Given the description of an element on the screen output the (x, y) to click on. 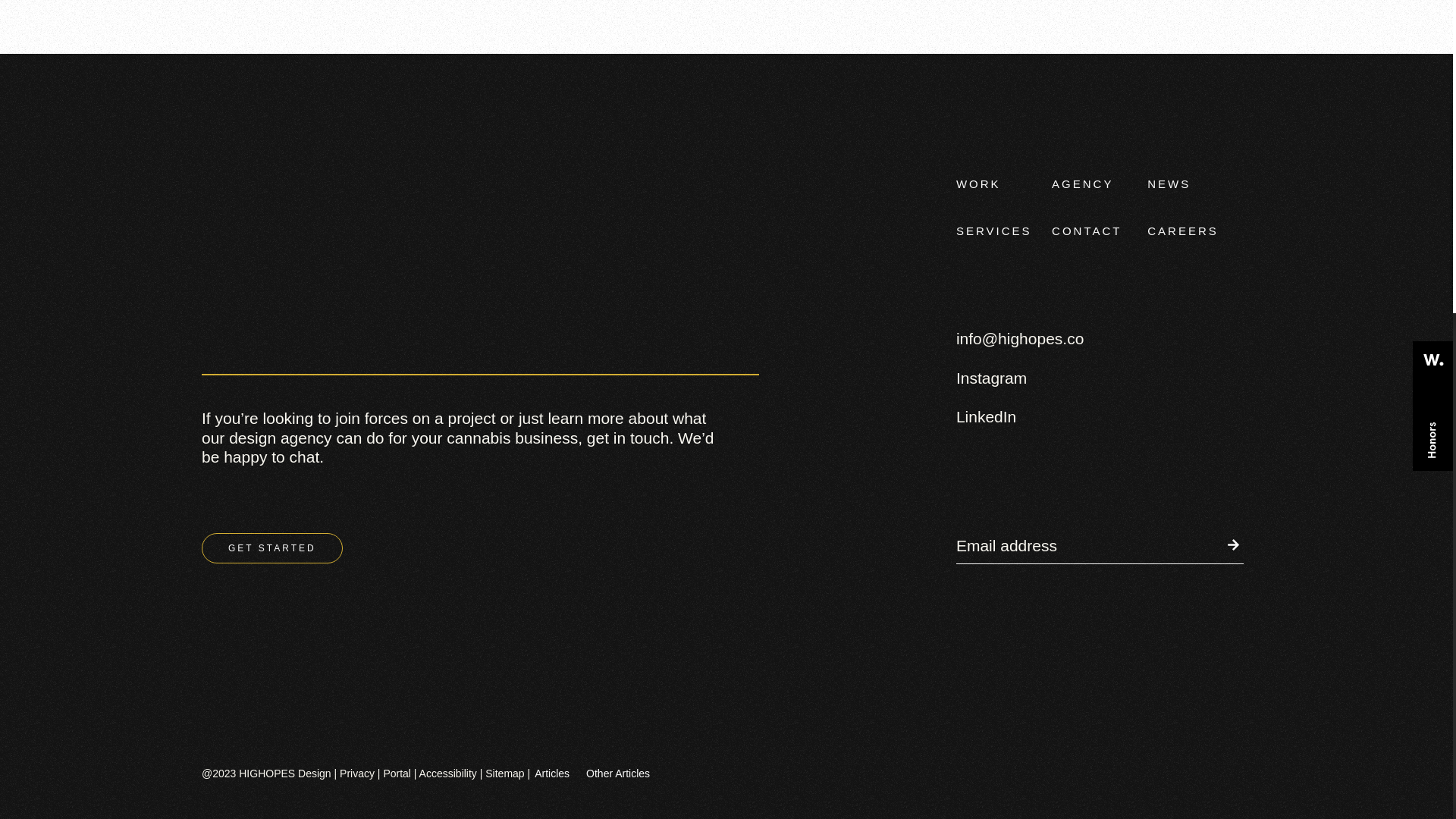
WORK (978, 183)
CAREERS (1182, 230)
NEWS (1169, 183)
CONTACT (1086, 230)
Privacy (356, 773)
Instagram (991, 378)
AGENCY (1082, 183)
LinkedIn (986, 416)
GET STARTED (272, 548)
Accessibility (448, 773)
Portal (396, 773)
SERVICES (994, 230)
Sitemap (504, 773)
